Given the description of an element on the screen output the (x, y) to click on. 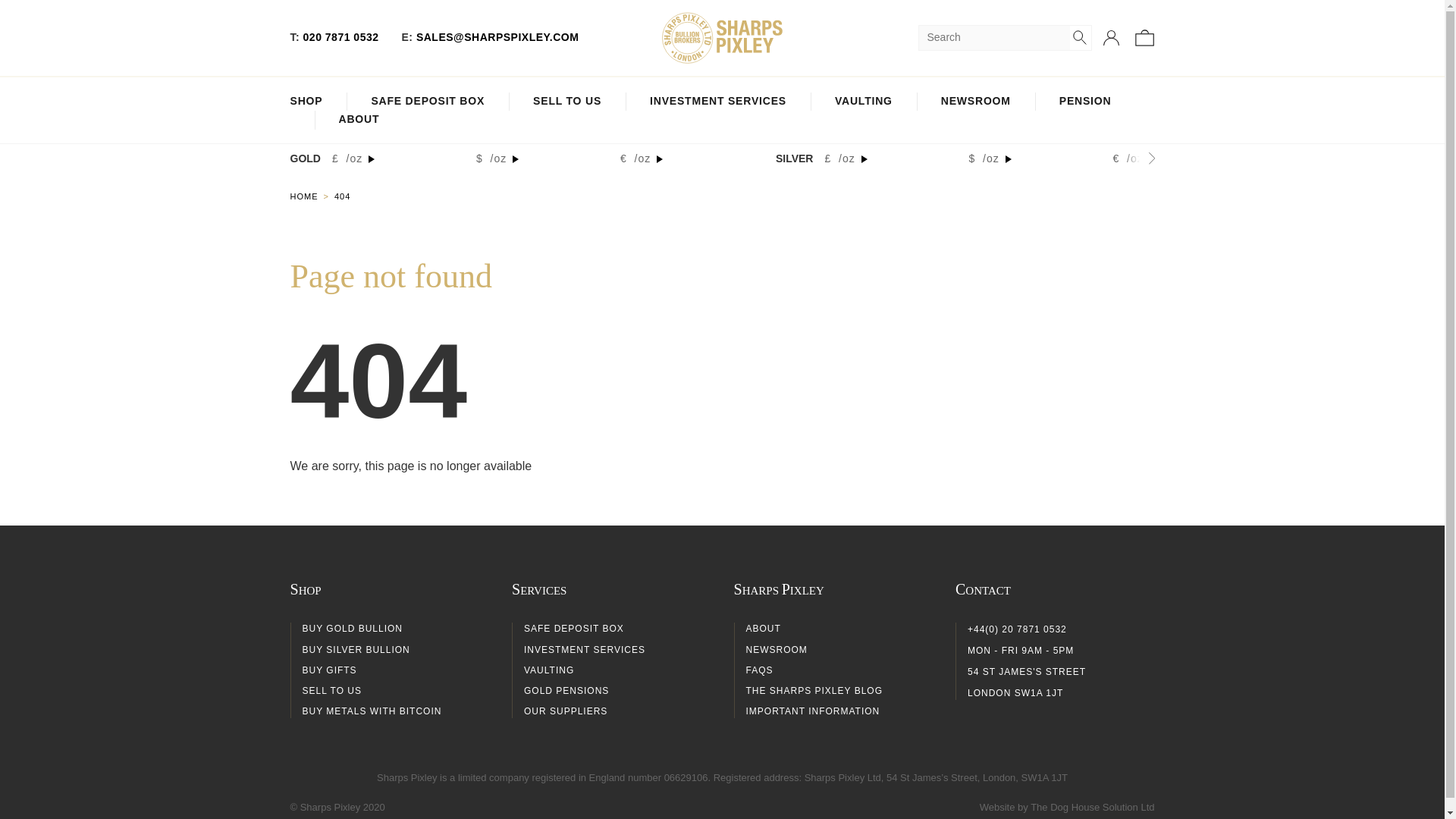
Newsroom (975, 101)
Safe Deposit Boxes in London (427, 101)
SHOP (305, 101)
Pension (1085, 101)
Investment Services (717, 101)
020 7871 0532 (340, 37)
Vaulting (863, 101)
About (357, 119)
Sell to us (566, 101)
Buy gold oline (305, 101)
Sharps Pixley - Buy Gold online (722, 37)
Buy gold online (311, 195)
